Given the description of an element on the screen output the (x, y) to click on. 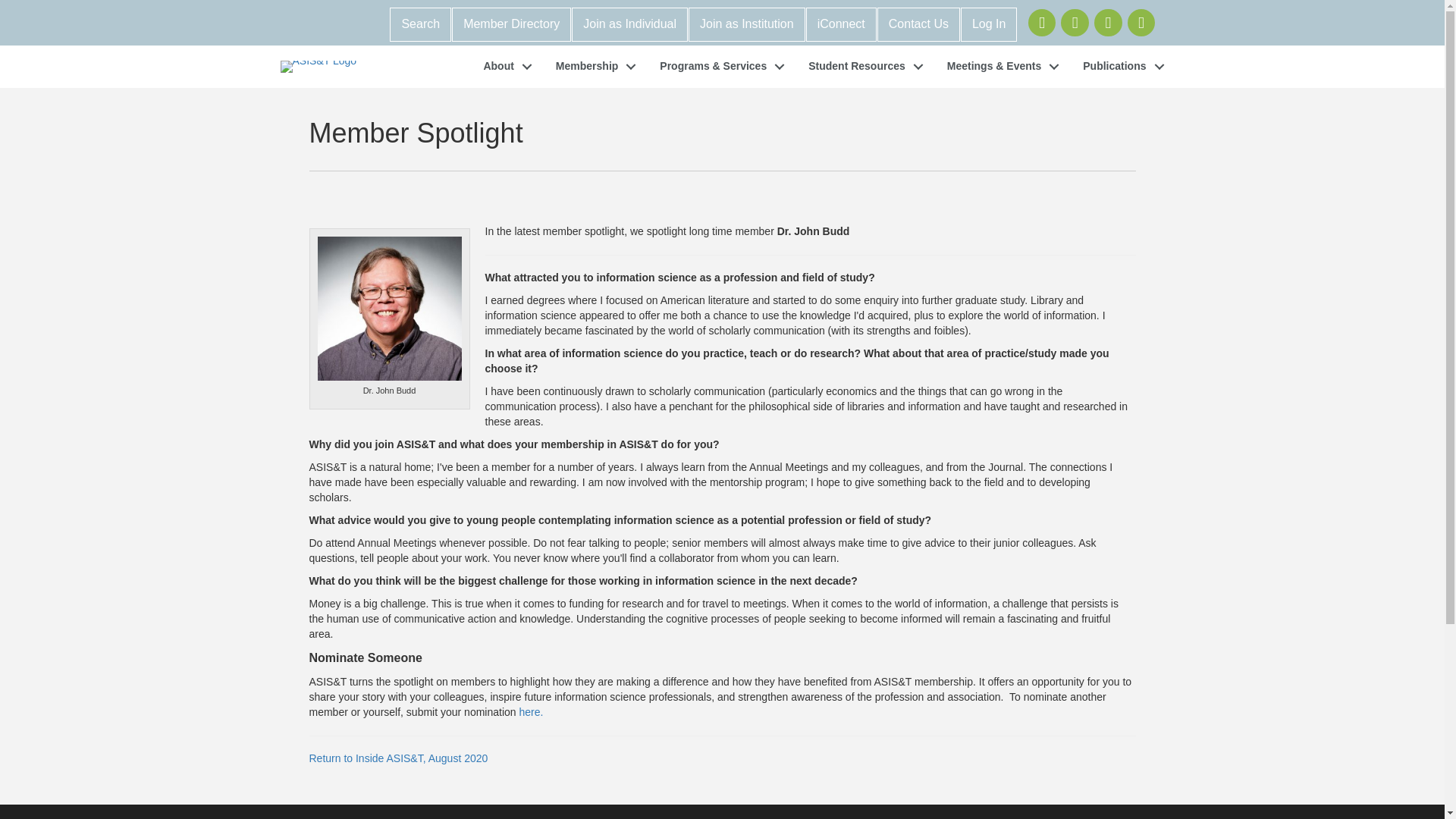
Member Directory (510, 24)
Contact Us (918, 24)
Search (420, 24)
About (502, 66)
Join as Individual (629, 24)
Join as Institution (746, 24)
Log In (988, 24)
iConnect (841, 24)
